Given the description of an element on the screen output the (x, y) to click on. 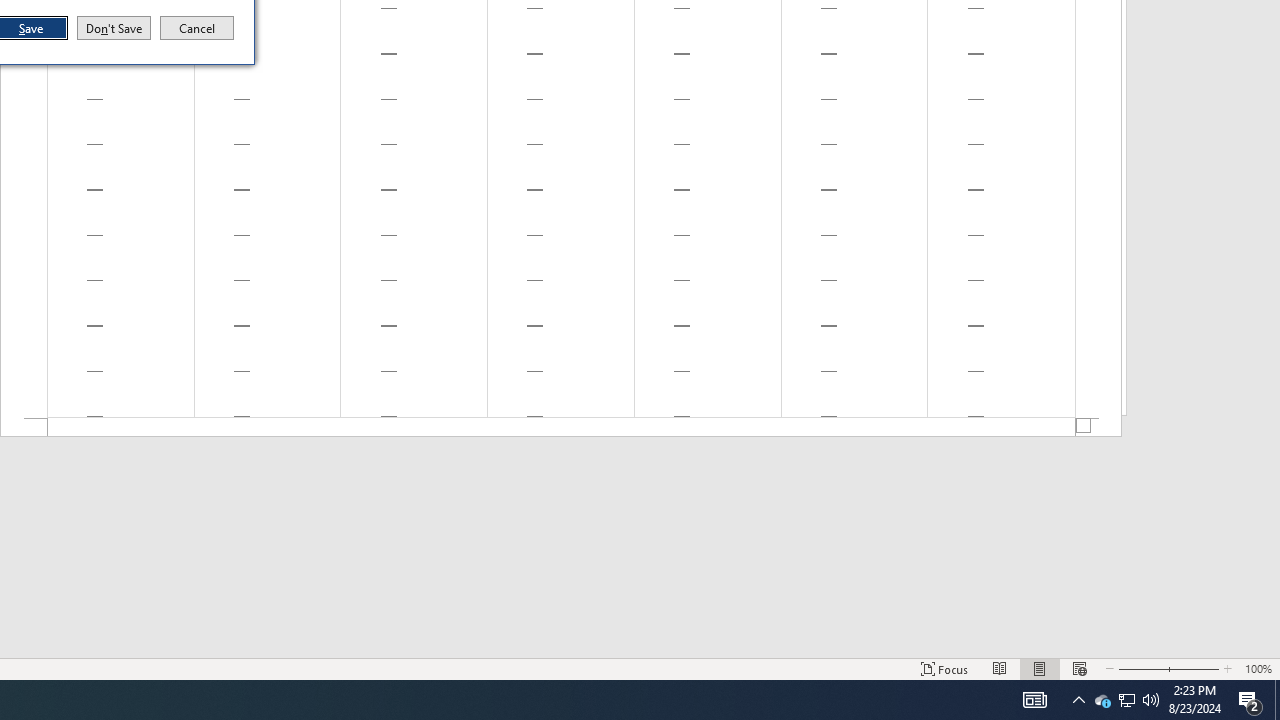
AutomationID: 4105 (1034, 699)
Notification Chevron (1078, 699)
User Promoted Notification Area (1126, 699)
Don't Save (113, 27)
Footer -Section 1- (561, 427)
Focus  (944, 668)
Read Mode (1126, 699)
Print Layout (1000, 668)
Web Layout (1039, 668)
